Given the description of an element on the screen output the (x, y) to click on. 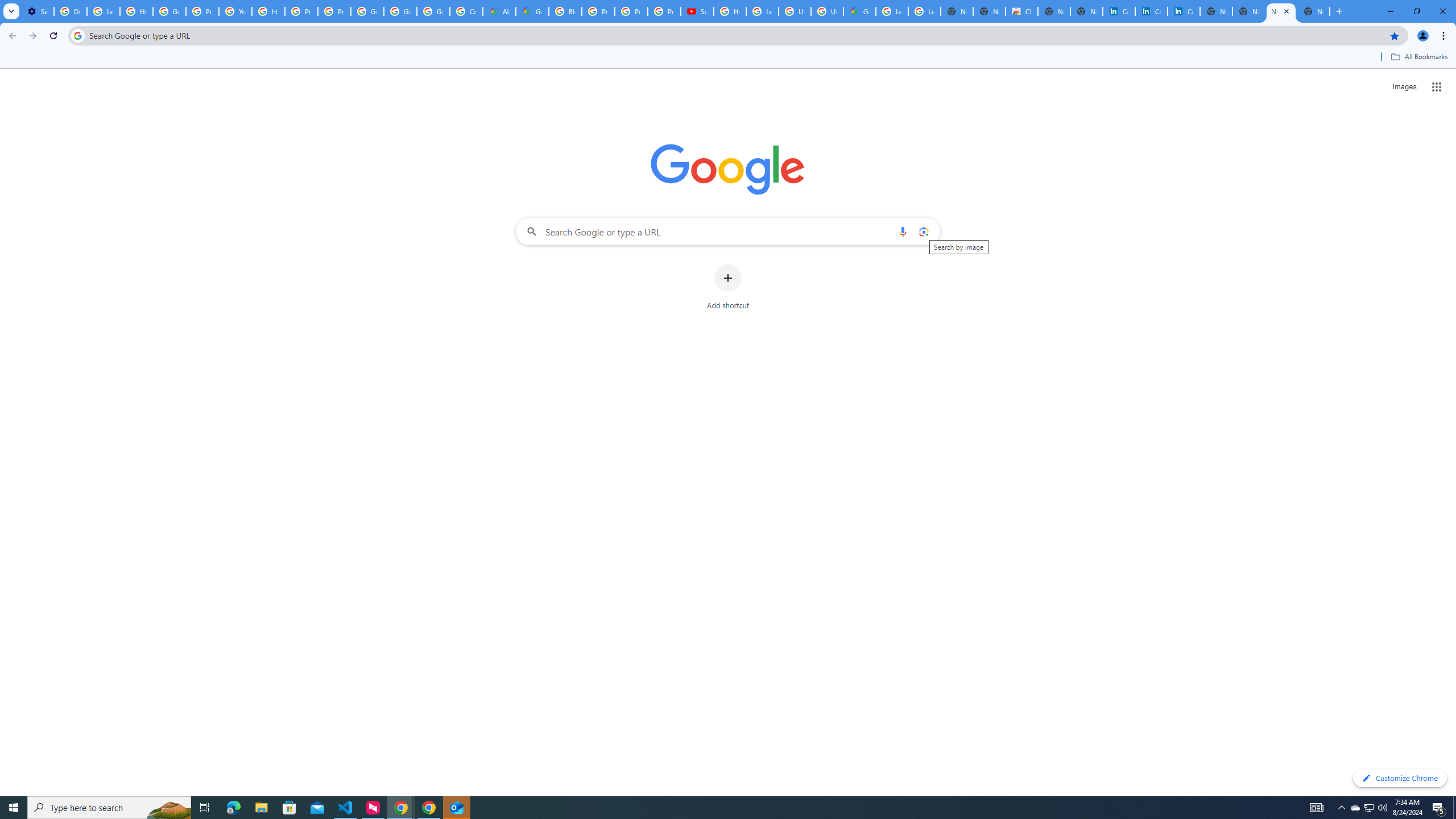
YouTube (235, 11)
New Tab (1313, 11)
Add shortcut (727, 287)
Privacy Help Center - Policies Help (598, 11)
Cookie Policy | LinkedIn (1118, 11)
Cookie Policy | LinkedIn (1150, 11)
